Given the description of an element on the screen output the (x, y) to click on. 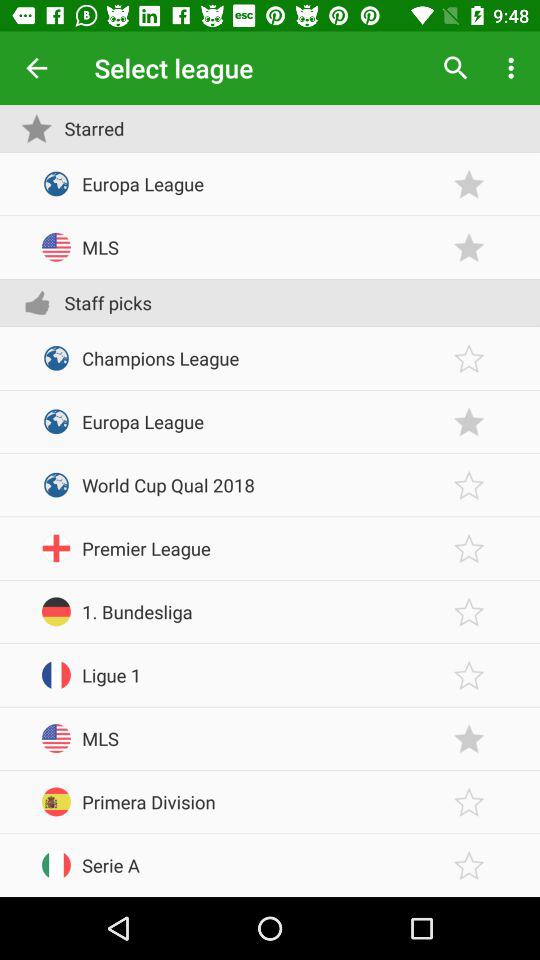
would favorite ligue 1 (469, 674)
